Given the description of an element on the screen output the (x, y) to click on. 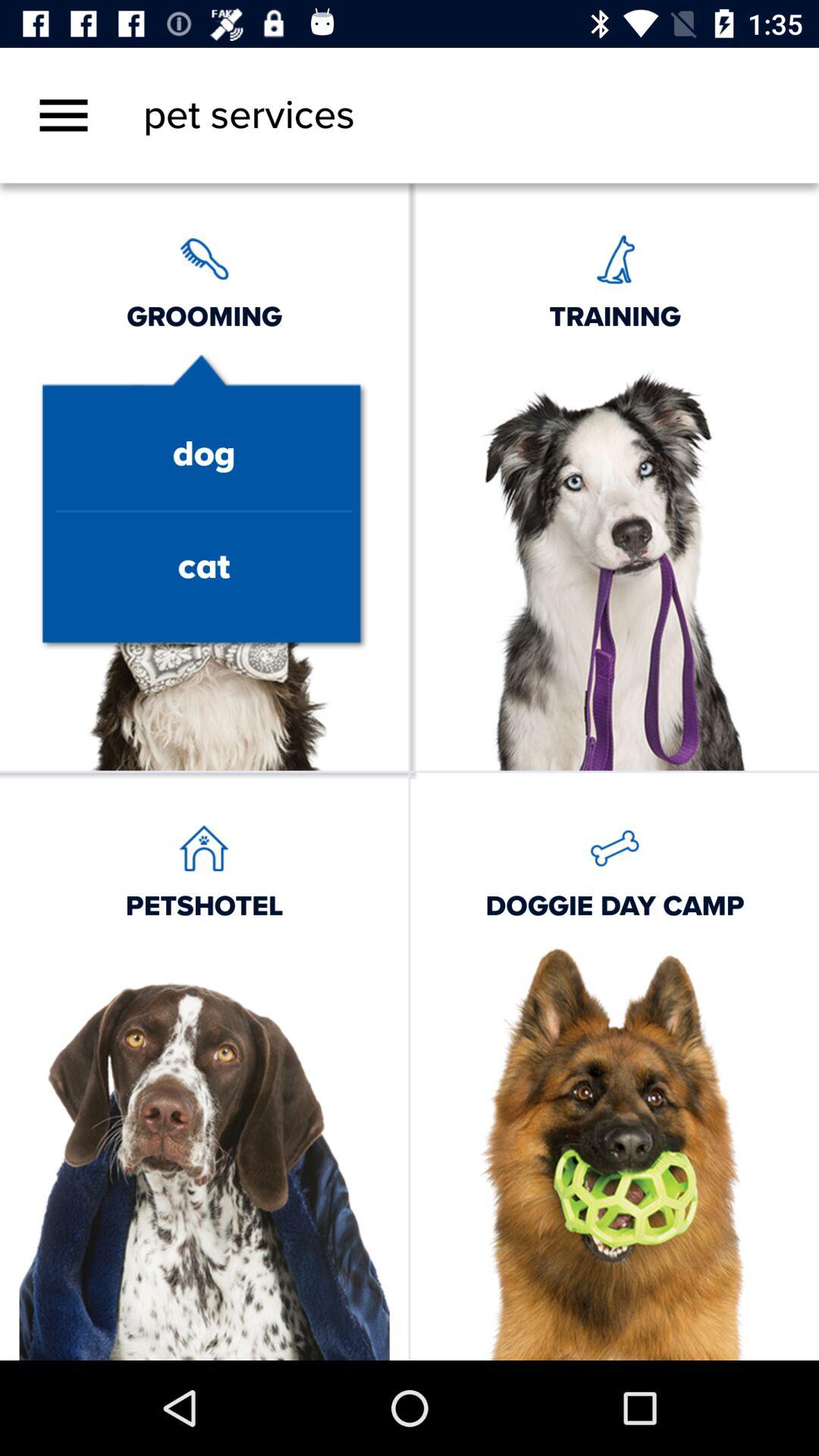
open the icon above grooming item (63, 115)
